Given the description of an element on the screen output the (x, y) to click on. 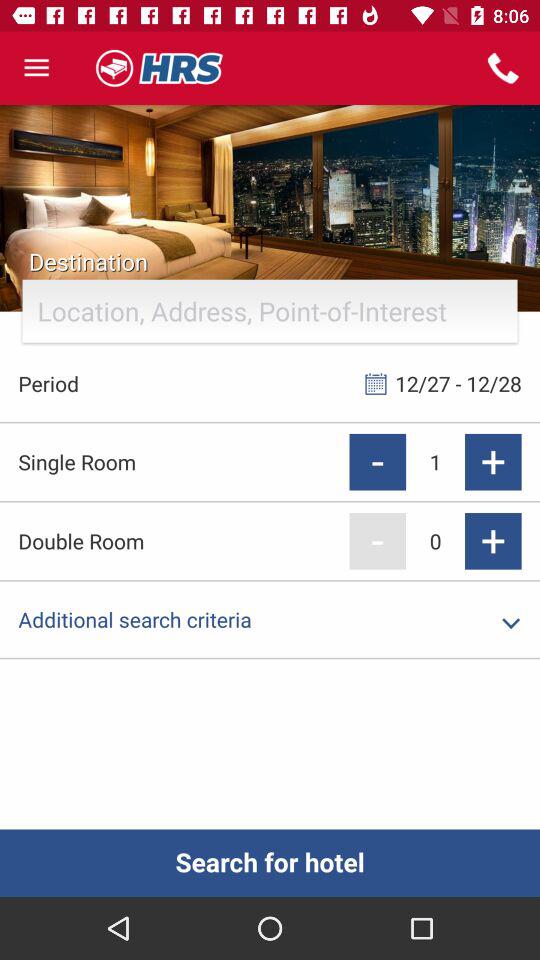
select logo at top left (160, 68)
click on the dropdown (511, 623)
select the text field under destination (269, 311)
click on the call icon on top right corner (503, 68)
